Given the description of an element on the screen output the (x, y) to click on. 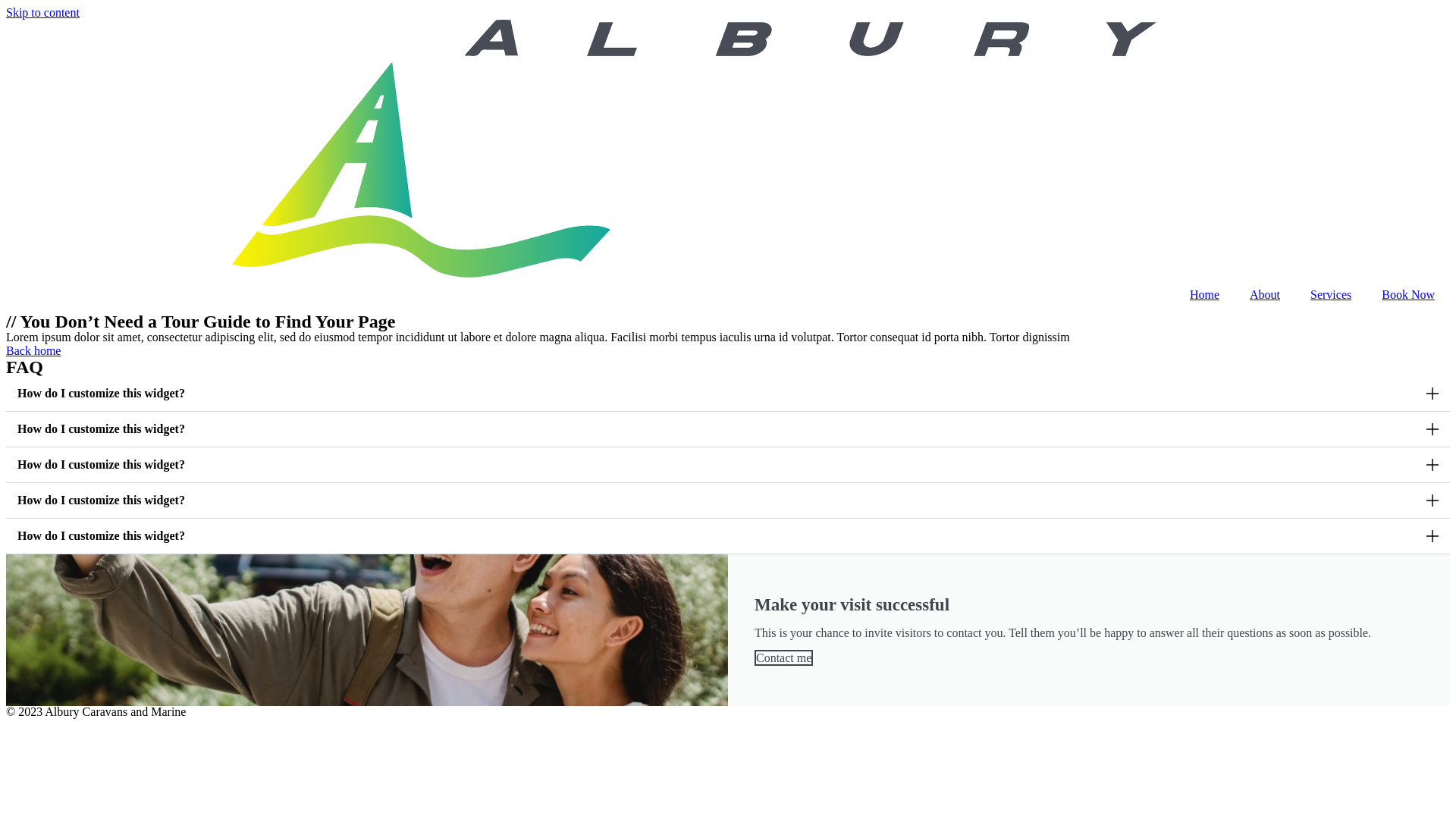
How do I customize this widget? Element type: text (101, 535)
How do I customize this widget? Element type: text (101, 464)
How do I customize this widget? Element type: text (101, 428)
How do I customize this widget? Element type: text (101, 392)
How do I customize this widget? Element type: text (101, 499)
Home Element type: text (1204, 294)
Skip to content Element type: text (42, 12)
Back home Element type: text (33, 350)
Contact me Element type: text (783, 657)
About Element type: text (1264, 294)
Book Now Element type: text (1407, 294)
Services Element type: text (1330, 294)
